Given the description of an element on the screen output the (x, y) to click on. 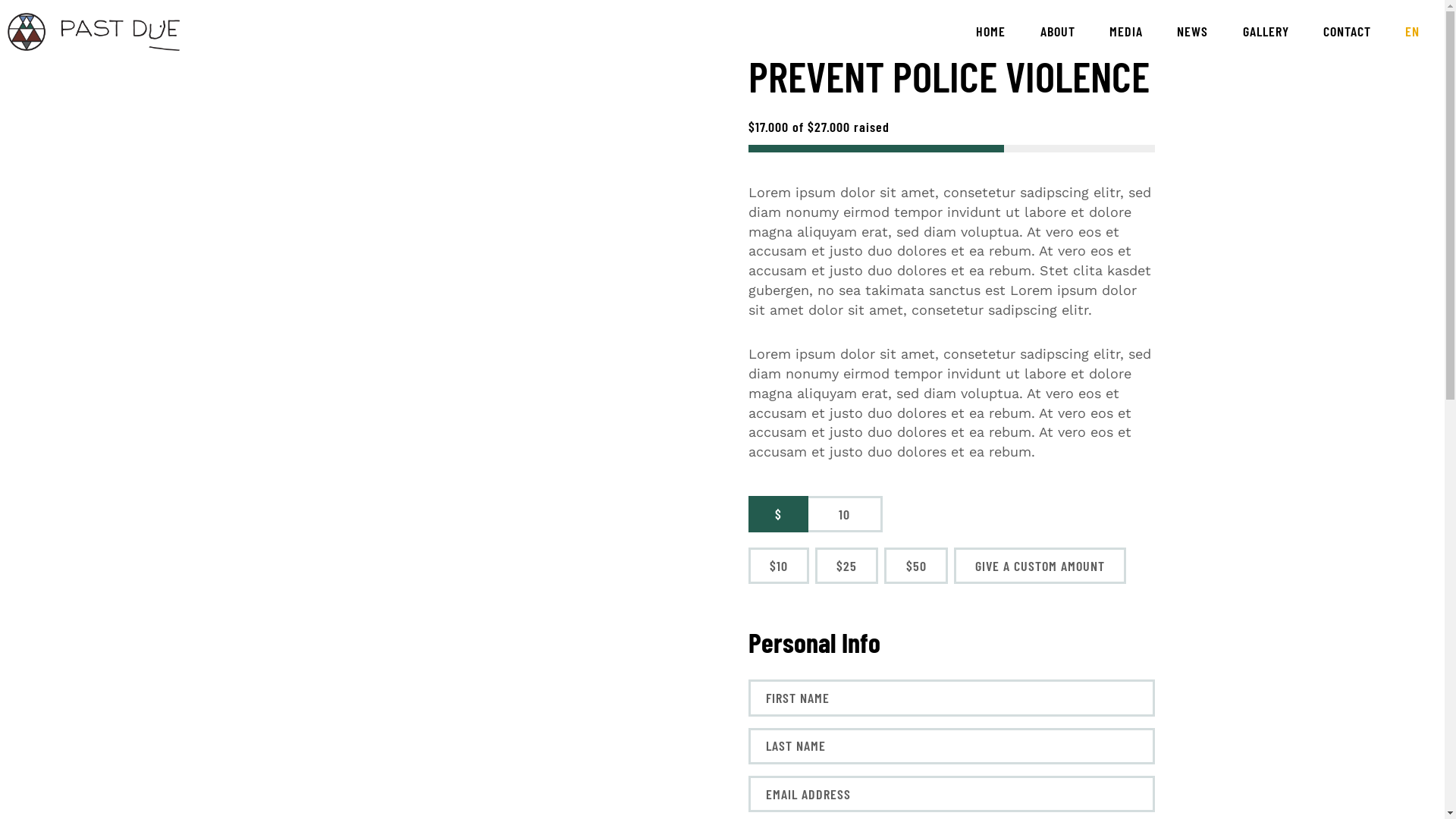
$50 Element type: text (915, 565)
MEDIA Element type: text (1125, 31)
NEWS Element type: text (1192, 31)
$10 Element type: text (778, 565)
$25 Element type: text (846, 565)
HOME Element type: text (990, 31)
GIVE A CUSTOM AMOUNT Element type: text (1039, 565)
GALLERY Element type: text (1265, 31)
ABOUT Element type: text (1057, 31)
CONTACT Element type: text (1346, 31)
EN Element type: text (1412, 31)
